Given the description of an element on the screen output the (x, y) to click on. 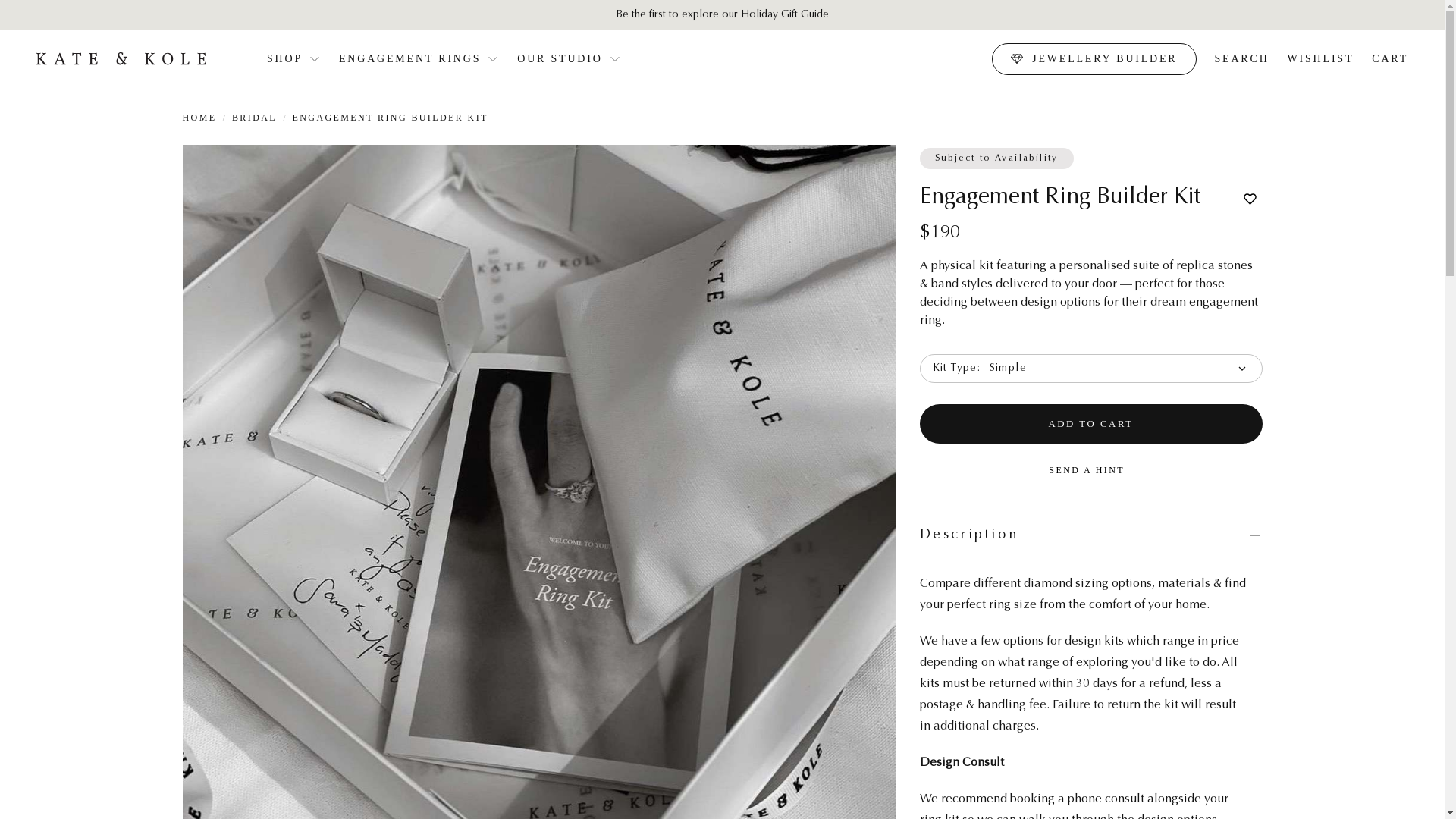
CART
CART Element type: text (1389, 58)
ADD TO CART
LOADING... Element type: text (1090, 423)
ENGAGEMENT RINGS Element type: text (418, 58)
HOME Element type: text (199, 117)
Be the first to explore our Holiday Gift Guide Element type: text (722, 15)
WISHLIST Element type: text (1320, 58)
JEWELLERY BUILDER Element type: text (1093, 58)
Kate & Kole Element type: text (121, 58)
BRIDAL Element type: text (254, 117)
SHOP Element type: text (293, 58)
OUR STUDIO Element type: text (568, 58)
Subject to Availability Element type: text (996, 158)
SEND A HINT   Element type: text (1090, 470)
